Given the description of an element on the screen output the (x, y) to click on. 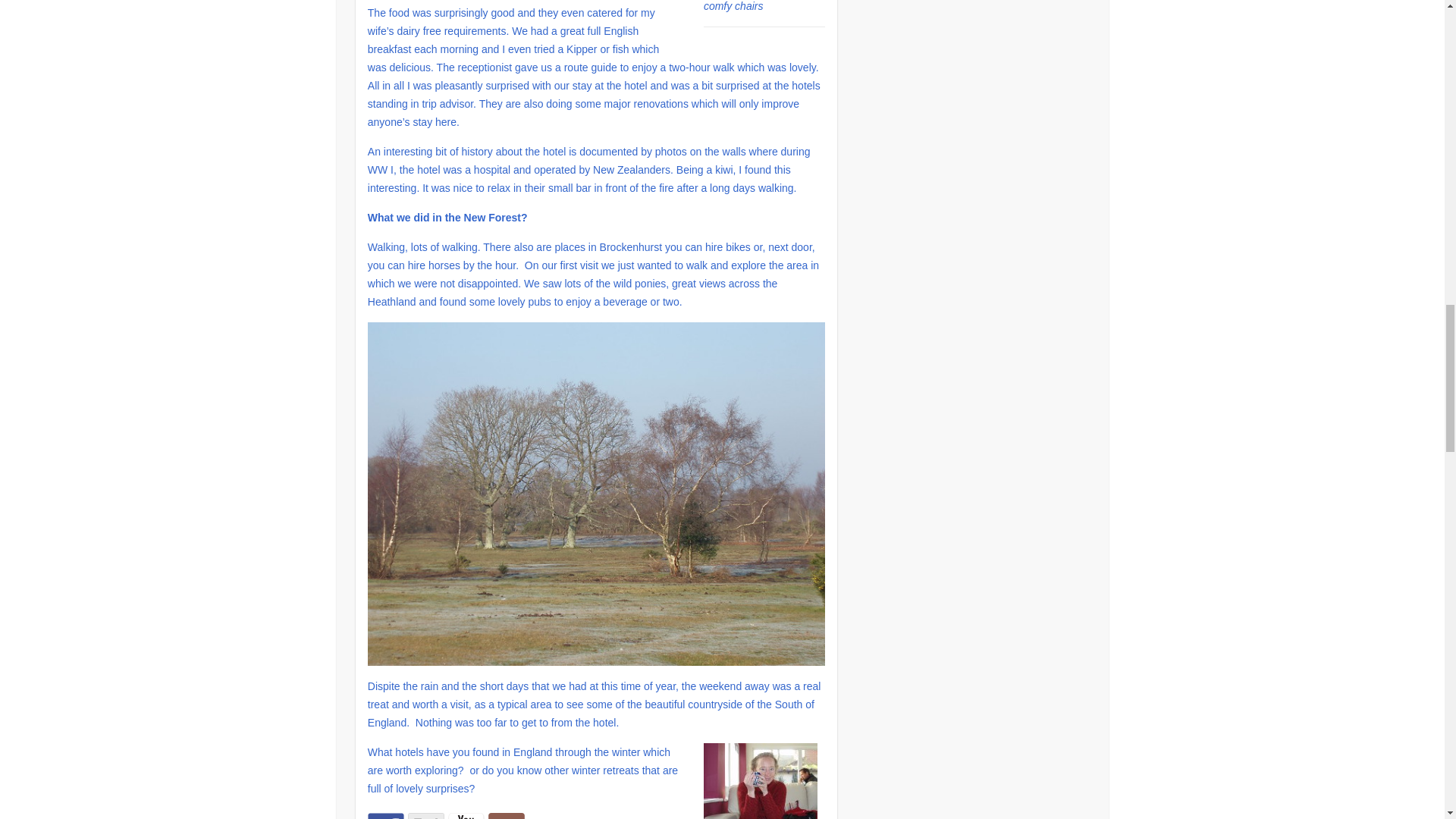
Bridge the Travel Gap (466, 816)
Bridge the Travel Gap (425, 816)
Check out our instagram feed (505, 816)
Bridge the Travel Gap (386, 816)
